Given the description of an element on the screen output the (x, y) to click on. 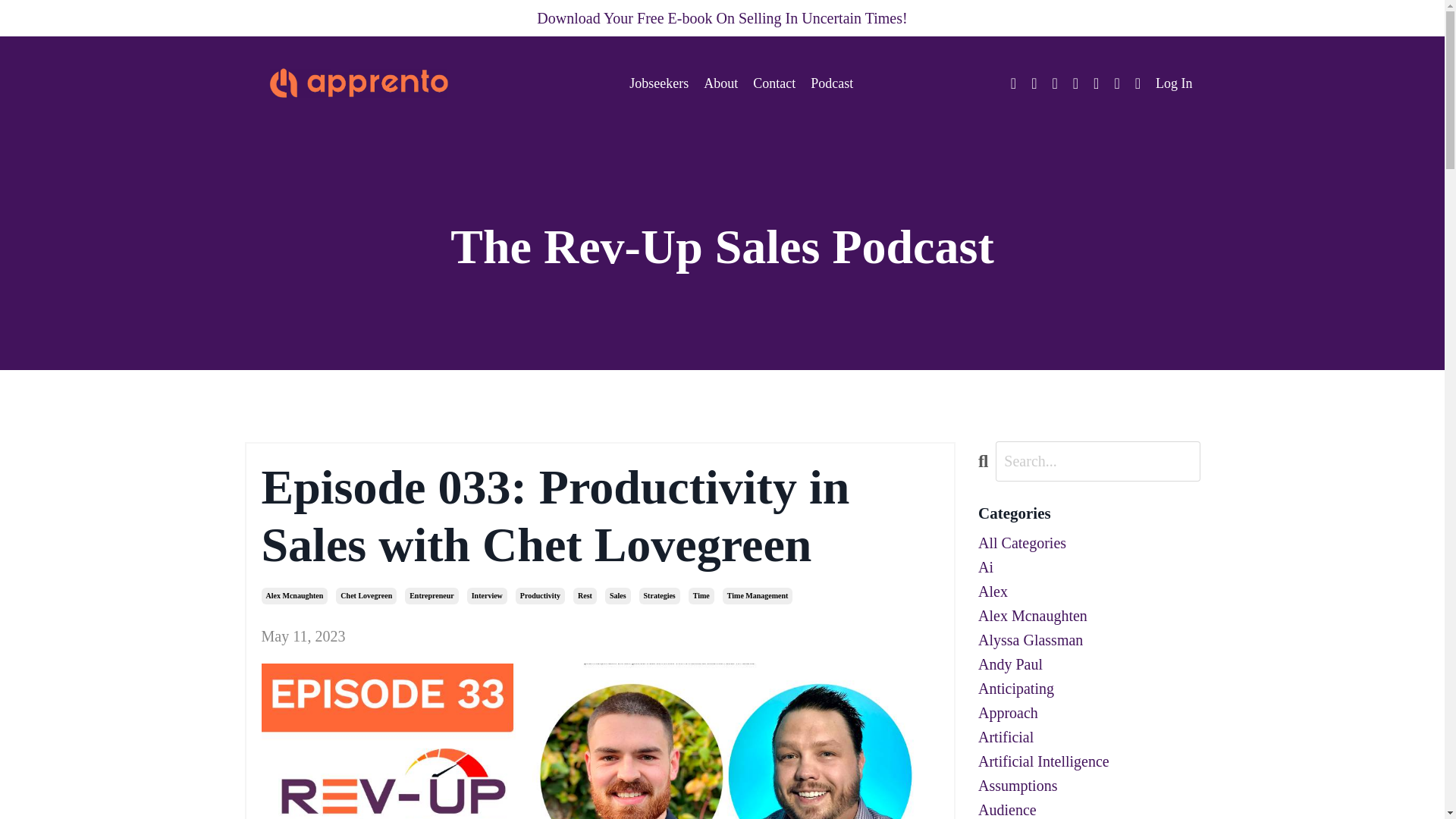
Log In (1174, 83)
Artificial Intelligence (1088, 761)
Alex (1088, 591)
Alex Mcnaughten (293, 596)
All Categories (1088, 542)
Strategies (659, 596)
Time (701, 596)
Assumptions (1088, 785)
Sales (617, 596)
Andy Paul (1088, 663)
